Given the description of an element on the screen output the (x, y) to click on. 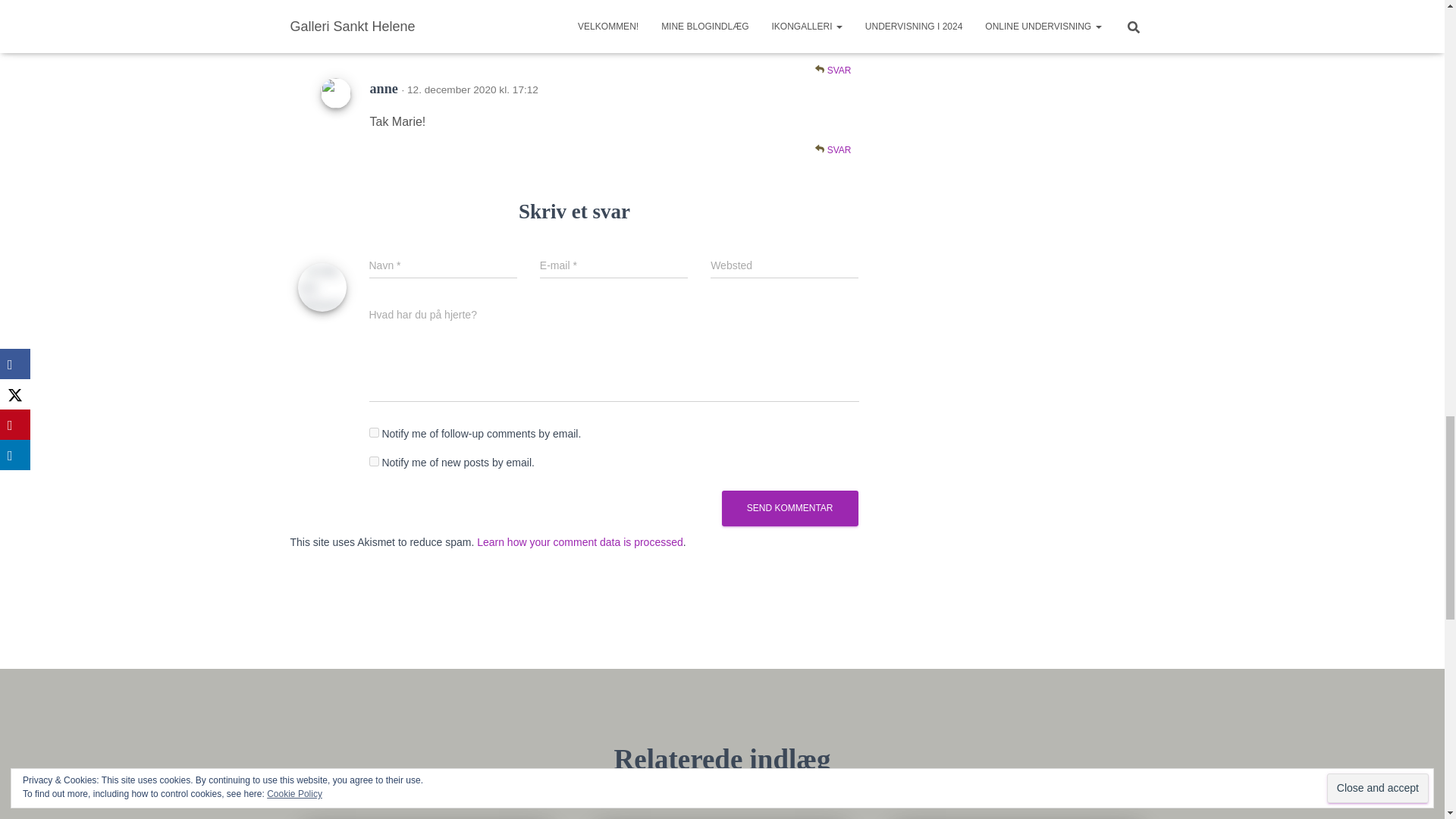
SVAR (832, 70)
Send kommentar (790, 508)
subscribe (373, 432)
subscribe (373, 461)
